Given the description of an element on the screen output the (x, y) to click on. 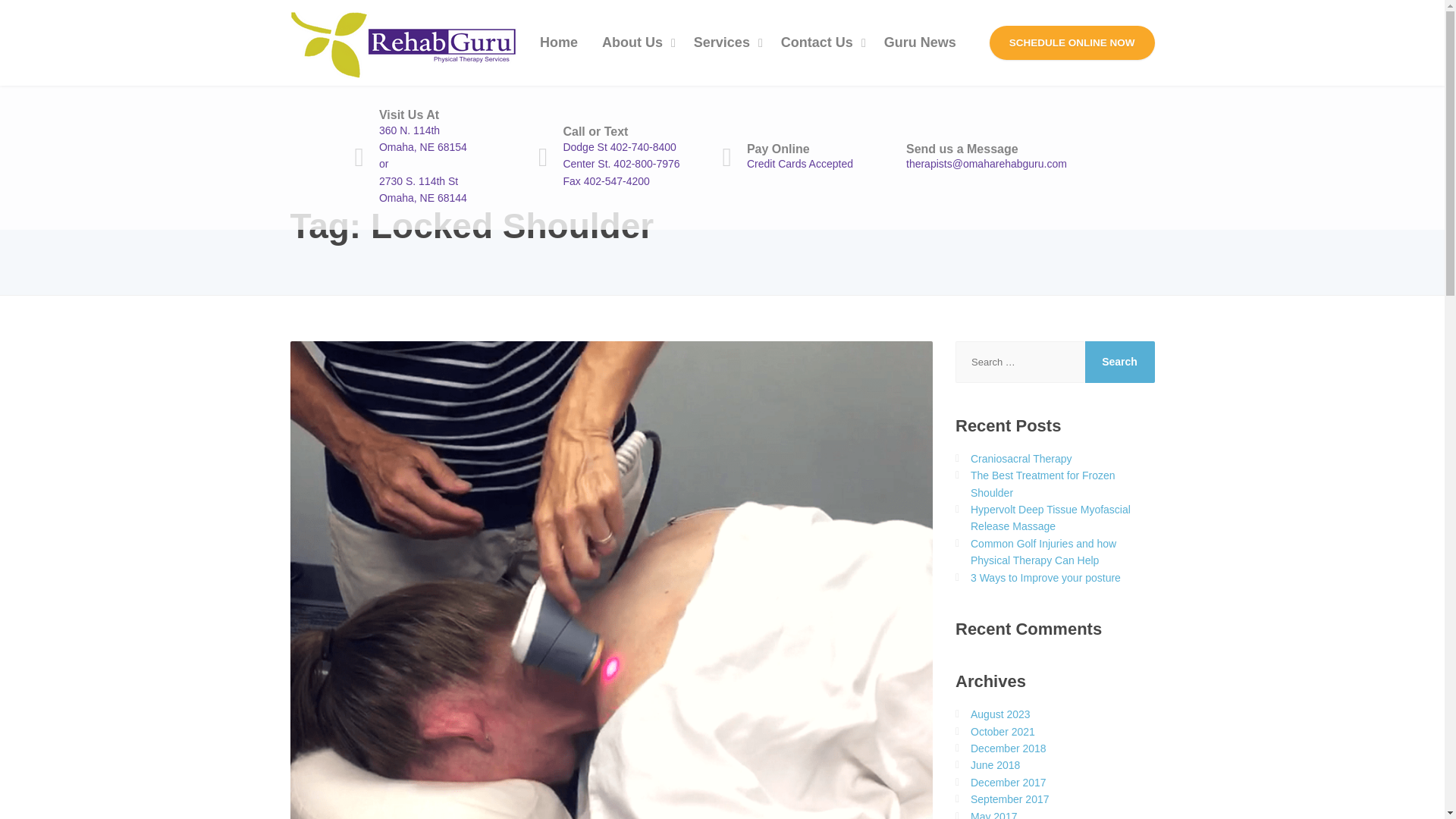
Services (724, 42)
Search (1119, 362)
Contact Us (820, 42)
About Us (635, 42)
Search (1119, 362)
Guru News (919, 42)
SCHEDULE ONLINE NOW (813, 157)
